Given the description of an element on the screen output the (x, y) to click on. 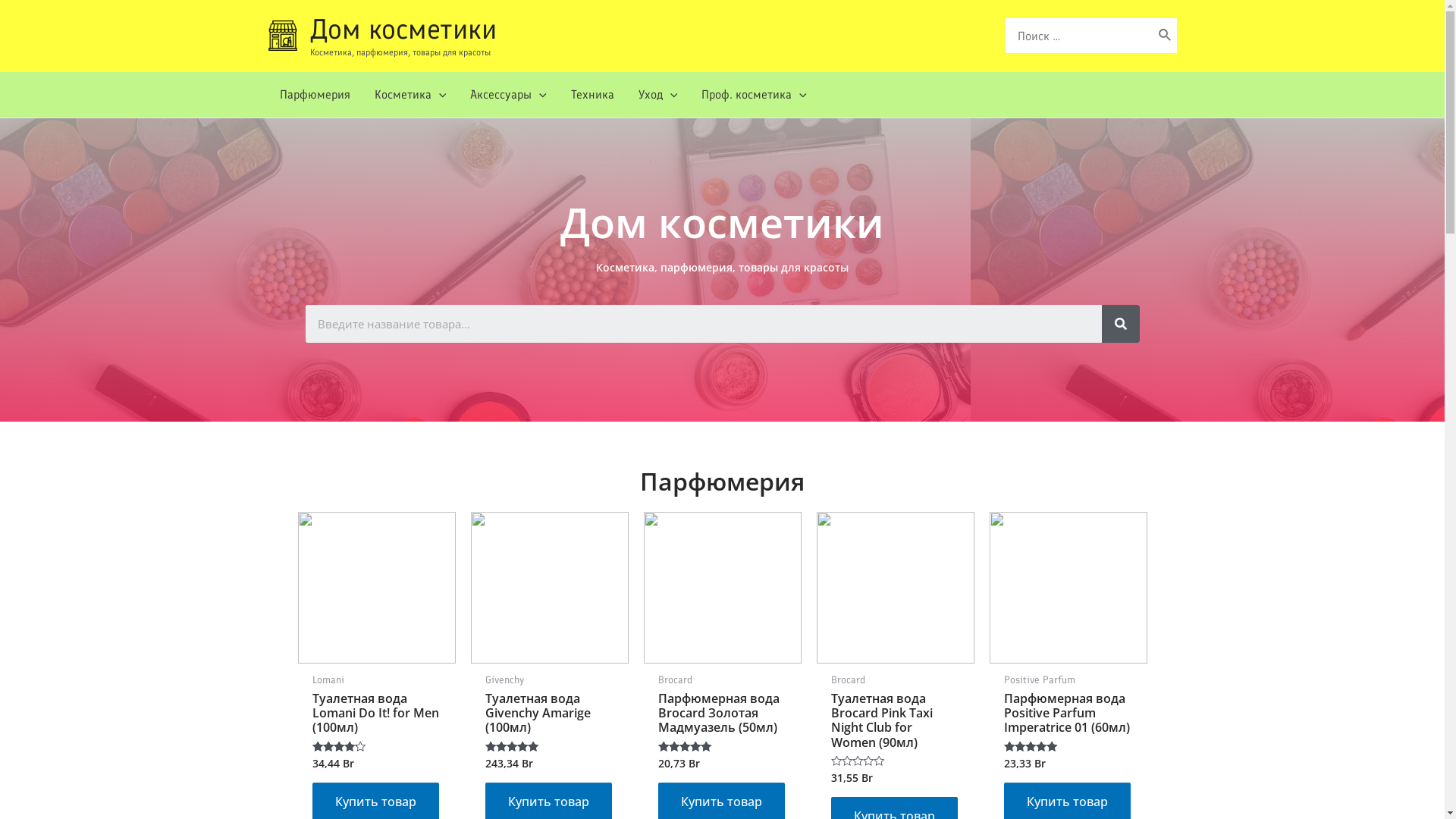
Search Element type: hover (1120, 323)
Search Element type: hover (702, 323)
